Given the description of an element on the screen output the (x, y) to click on. 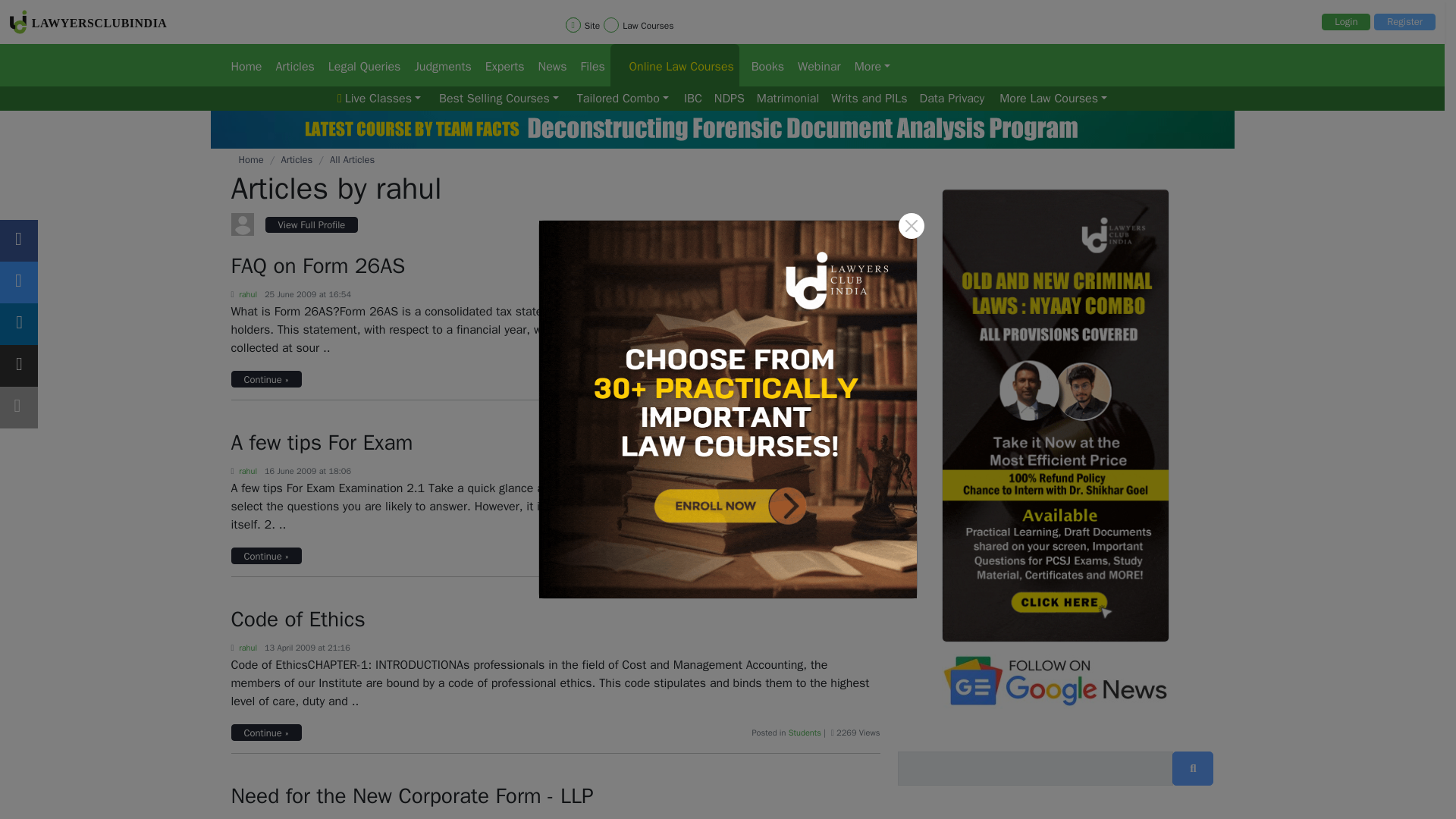
More (867, 65)
News (547, 65)
Best Selling Courses (498, 98)
Live Classes (378, 98)
Experts (499, 65)
Legal Queries (359, 65)
Webinar (814, 65)
Share Files (589, 65)
Files  (589, 65)
Articles (289, 65)
News (547, 65)
Login (1346, 21)
Forum (359, 65)
Books (762, 65)
Online Law Courses  (674, 65)
